Given the description of an element on the screen output the (x, y) to click on. 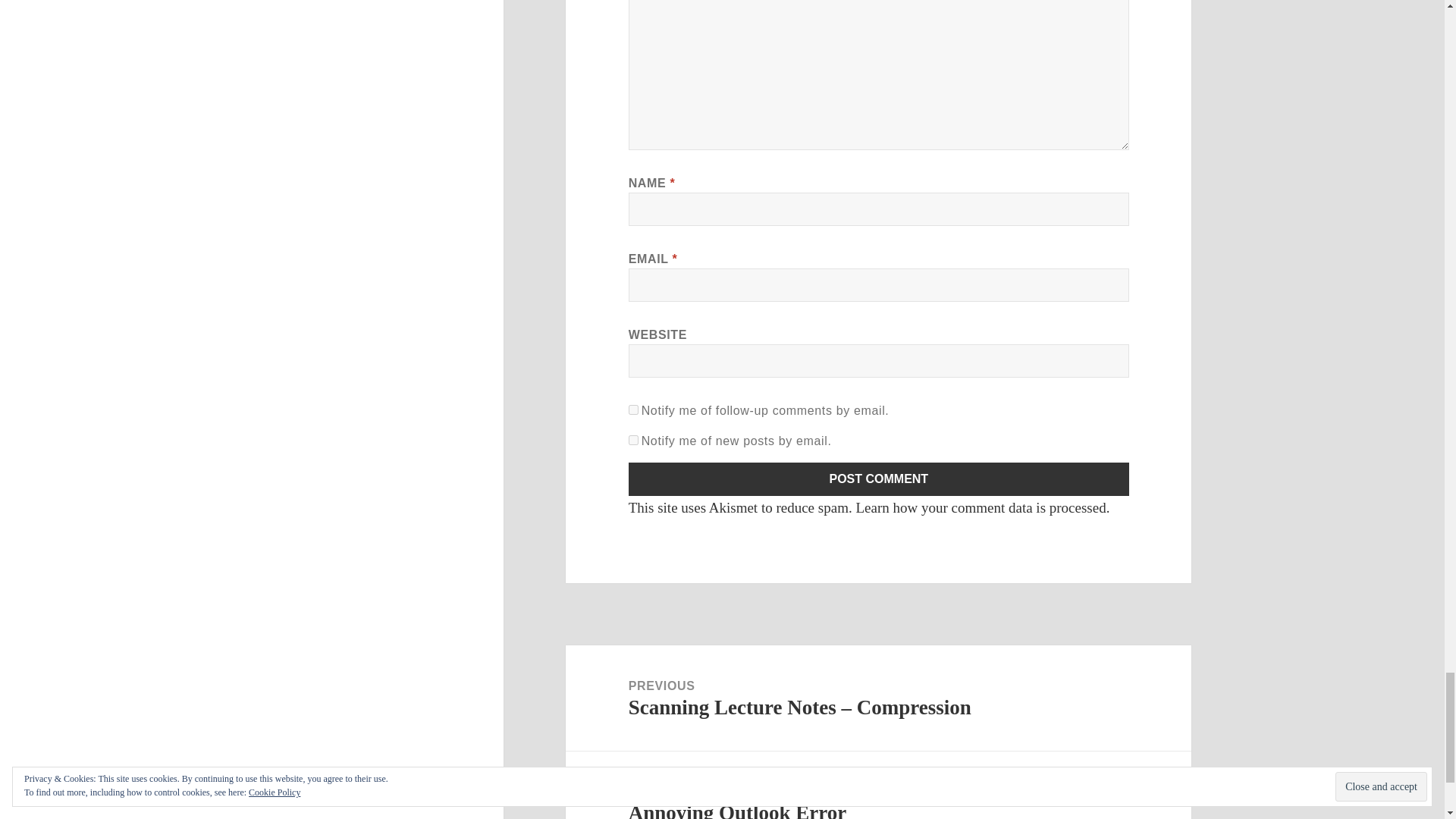
subscribe (633, 439)
subscribe (633, 409)
Post Comment (878, 479)
